Given the description of an element on the screen output the (x, y) to click on. 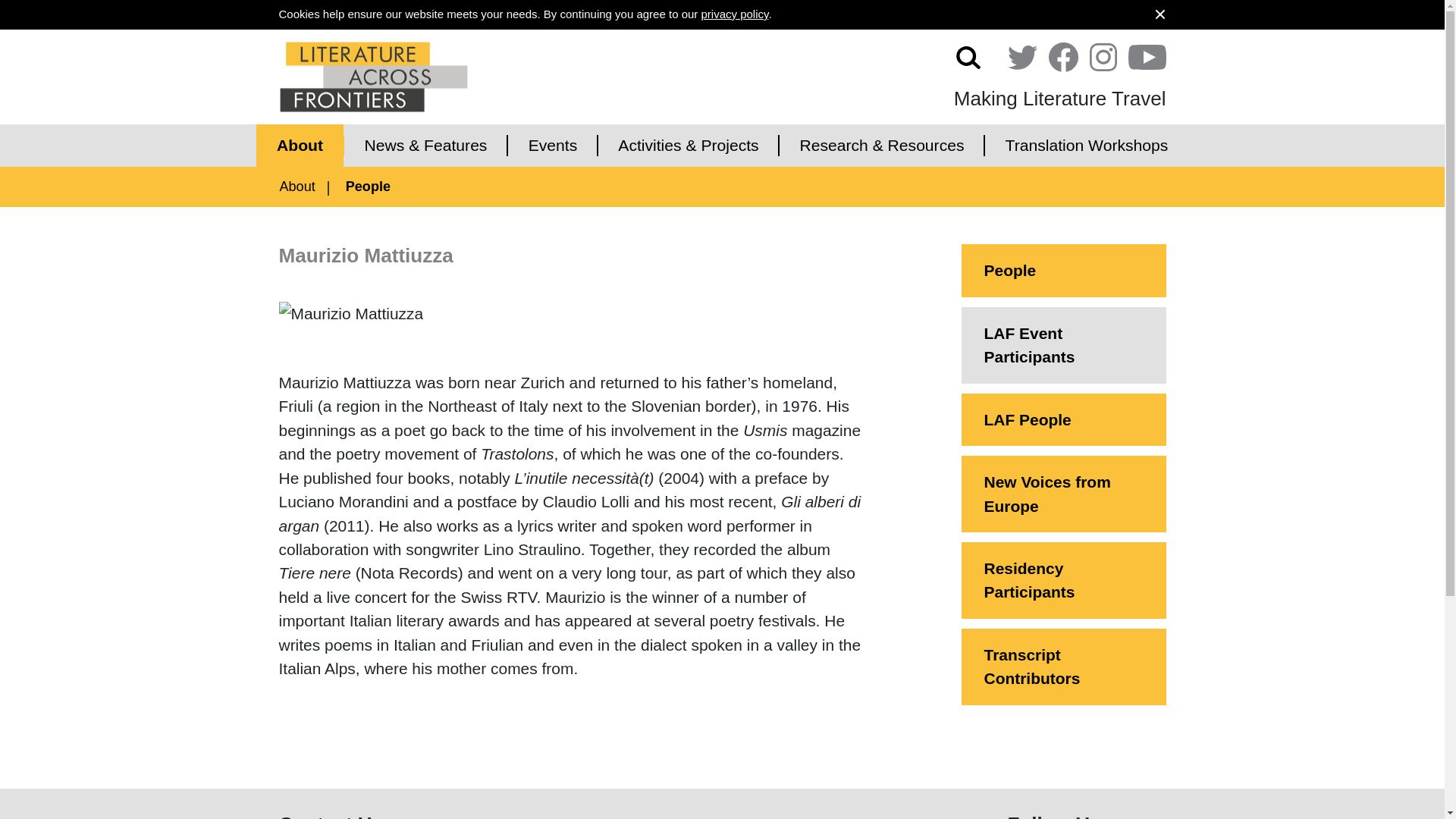
About (296, 186)
Close (1160, 14)
People (368, 186)
privacy policy (734, 13)
About (299, 145)
